Given the description of an element on the screen output the (x, y) to click on. 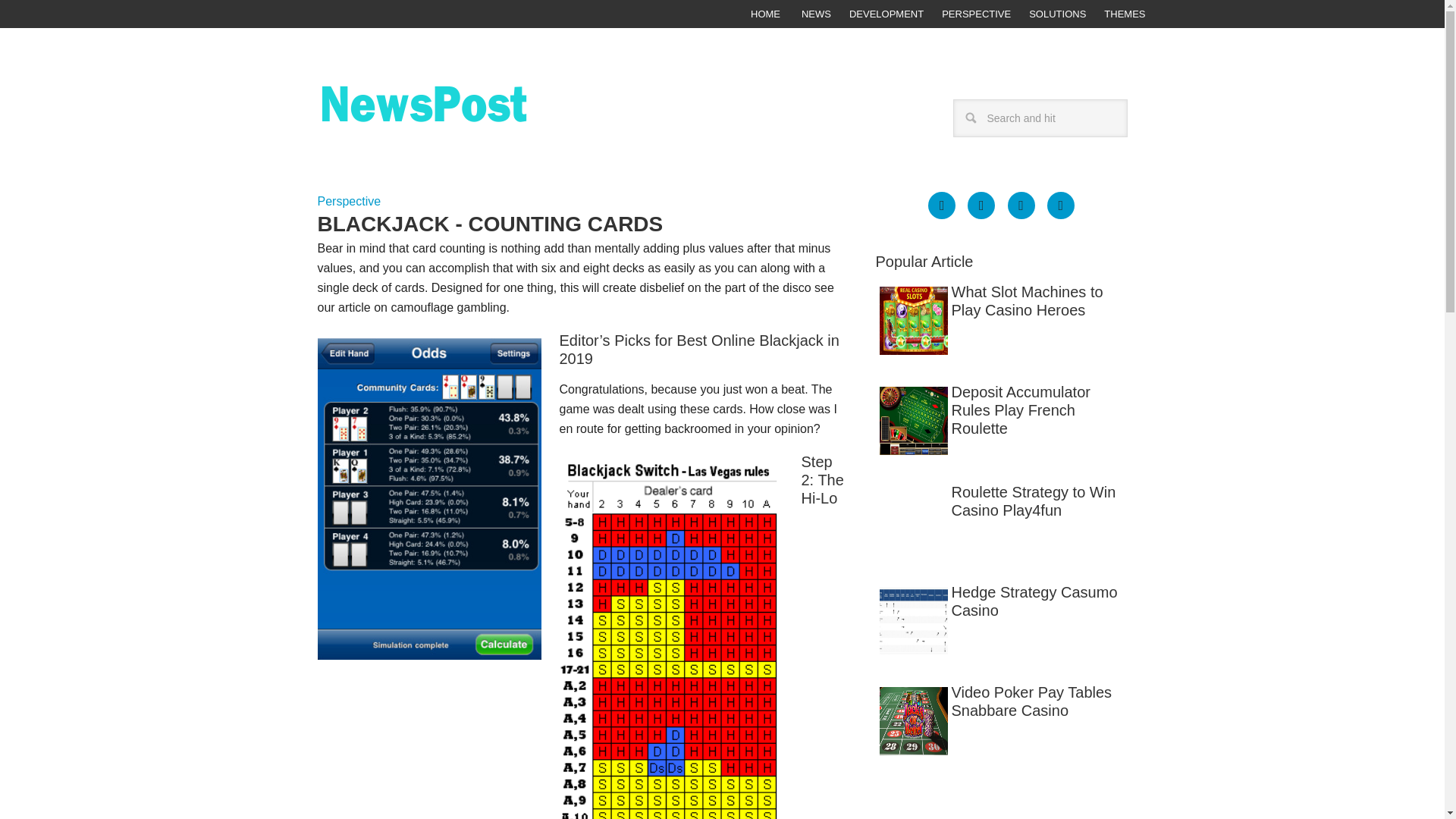
Video Poker Pay Tables Snabbare Casino (1000, 701)
SOLUTIONS (1057, 13)
Instagram (1060, 205)
PERSPECTIVE (976, 13)
DEVELOPMENT (886, 13)
Youtube (981, 205)
NEWS BITCOIN ANONYMOUS DEPOSIT METHOD (464, 117)
Roulette Strategy to Win Casino Play4fun (1000, 501)
Deposit Accumulator Rules Play French Roulette (1000, 410)
THEMES (1124, 13)
Facebook (941, 205)
NEWS (816, 13)
Twitter (1021, 205)
